Given the description of an element on the screen output the (x, y) to click on. 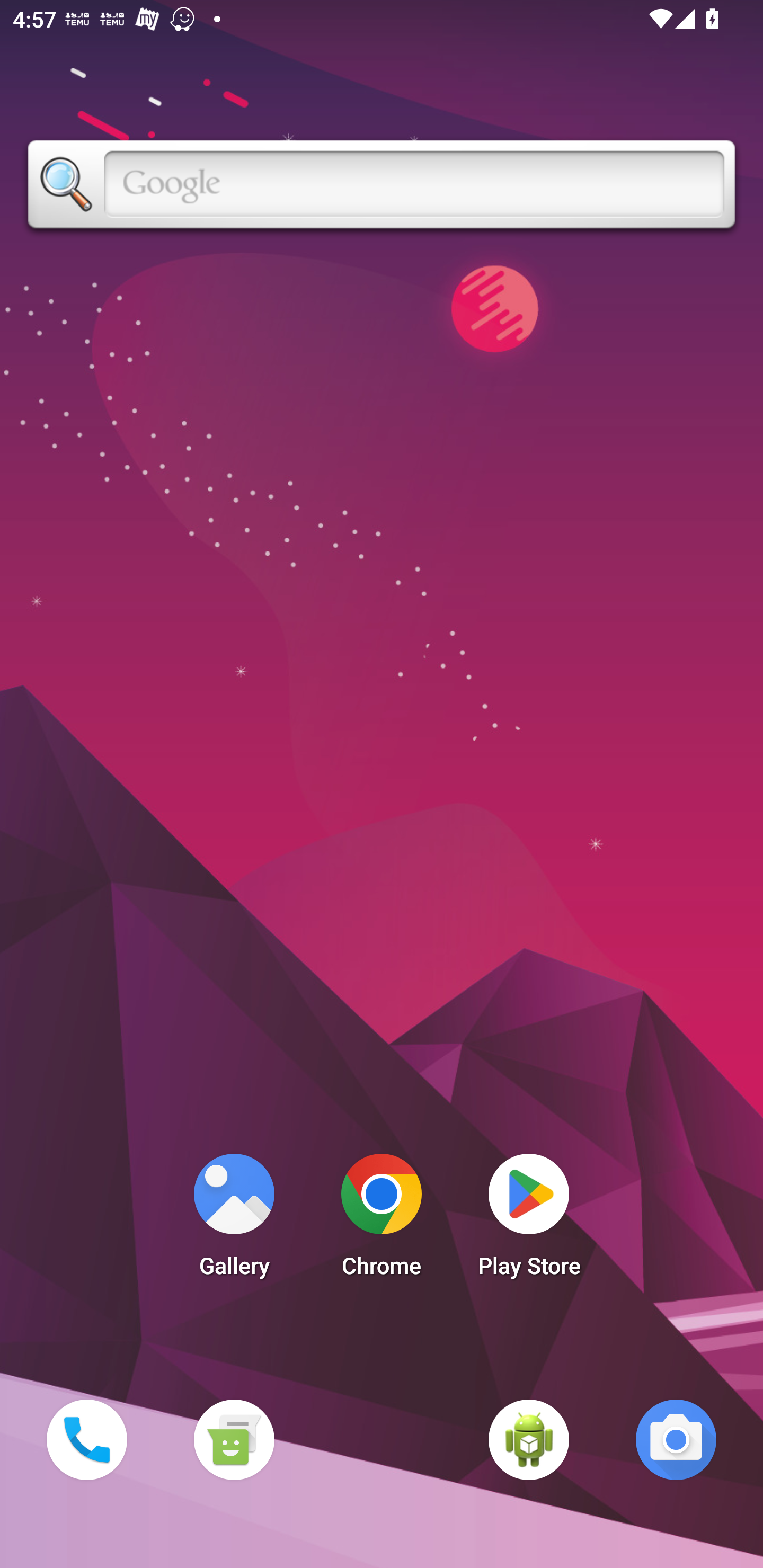
Gallery (233, 1220)
Chrome (381, 1220)
Play Store (528, 1220)
Phone (86, 1439)
Messaging (233, 1439)
WebView Browser Tester (528, 1439)
Camera (676, 1439)
